Given the description of an element on the screen output the (x, y) to click on. 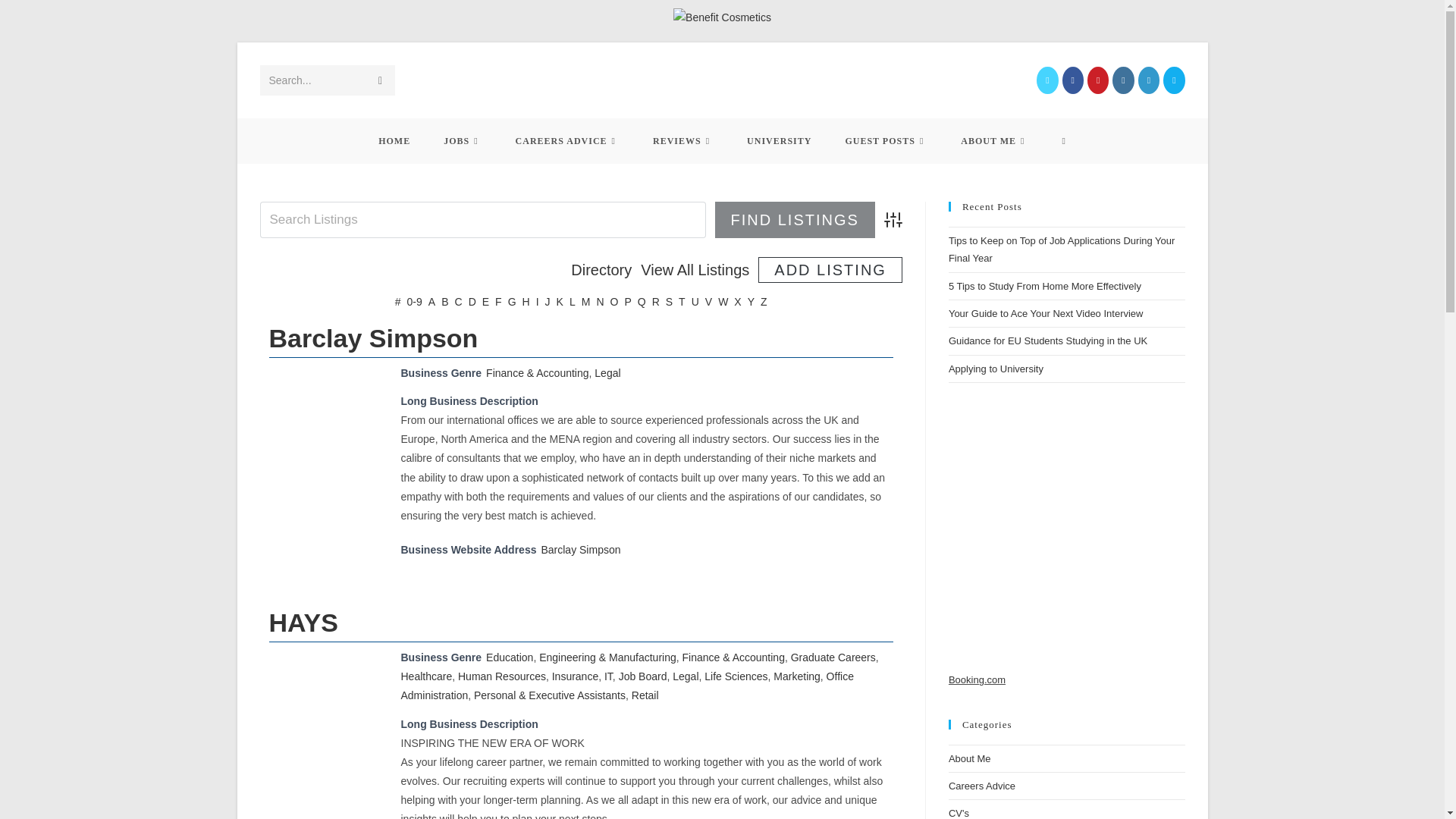
HAYS (324, 705)
Benefit Cosmetics (721, 17)
Submit search (379, 80)
REVIEWS (683, 140)
HOME (393, 140)
ABOUT ME (994, 140)
Barclay Simpson (580, 549)
Quick search keywords (481, 219)
Find Listings (794, 219)
UNIVERSITY (779, 140)
